Given the description of an element on the screen output the (x, y) to click on. 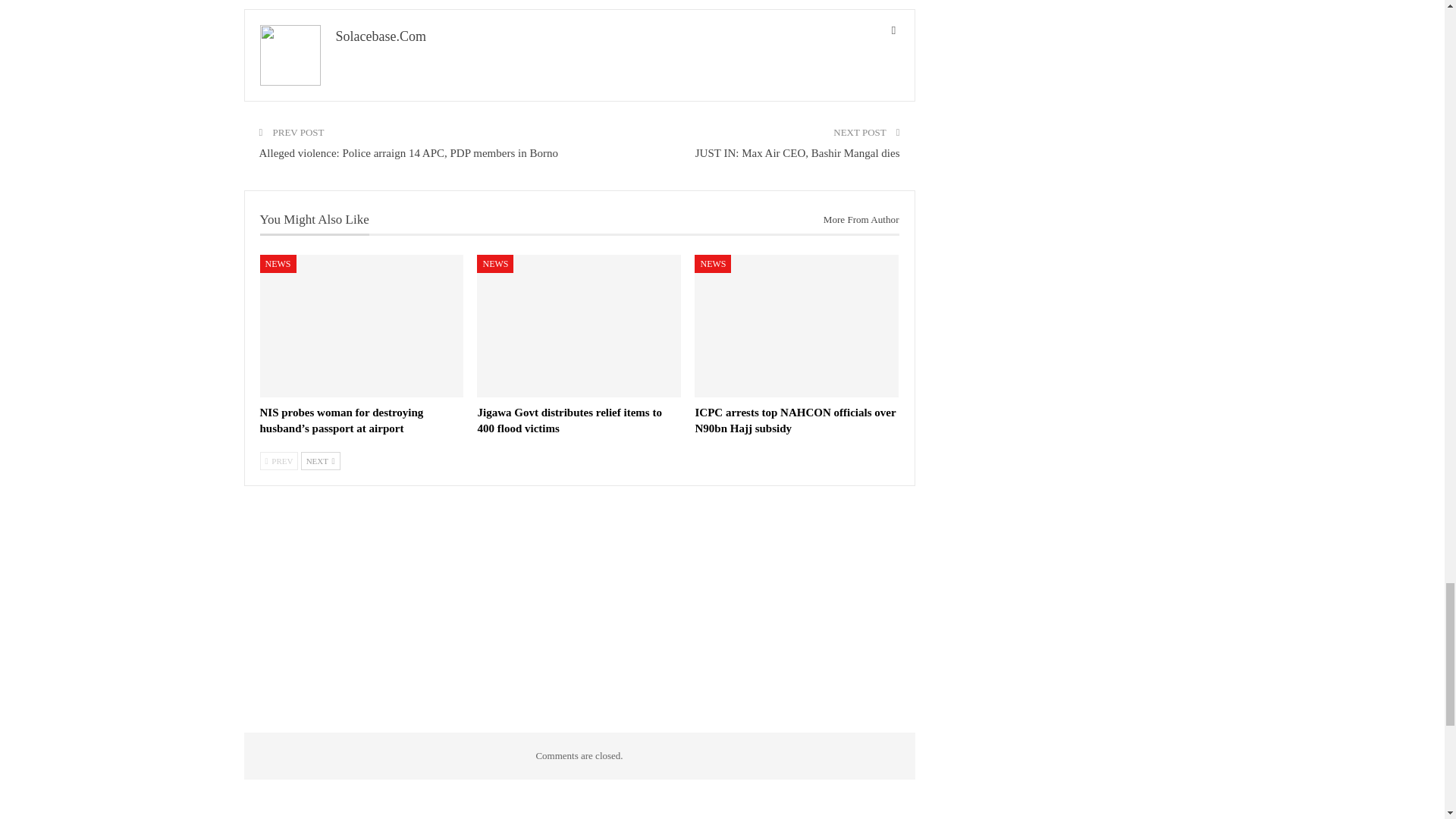
Jigawa Govt distributes relief items to 400 flood victims (569, 420)
ICPC arrests top NAHCON officials over N90bn Hajj subsidy (796, 325)
ICPC arrests top NAHCON officials over N90bn Hajj subsidy (794, 420)
Jigawa Govt distributes relief items to 400 flood victims (579, 325)
